Given the description of an element on the screen output the (x, y) to click on. 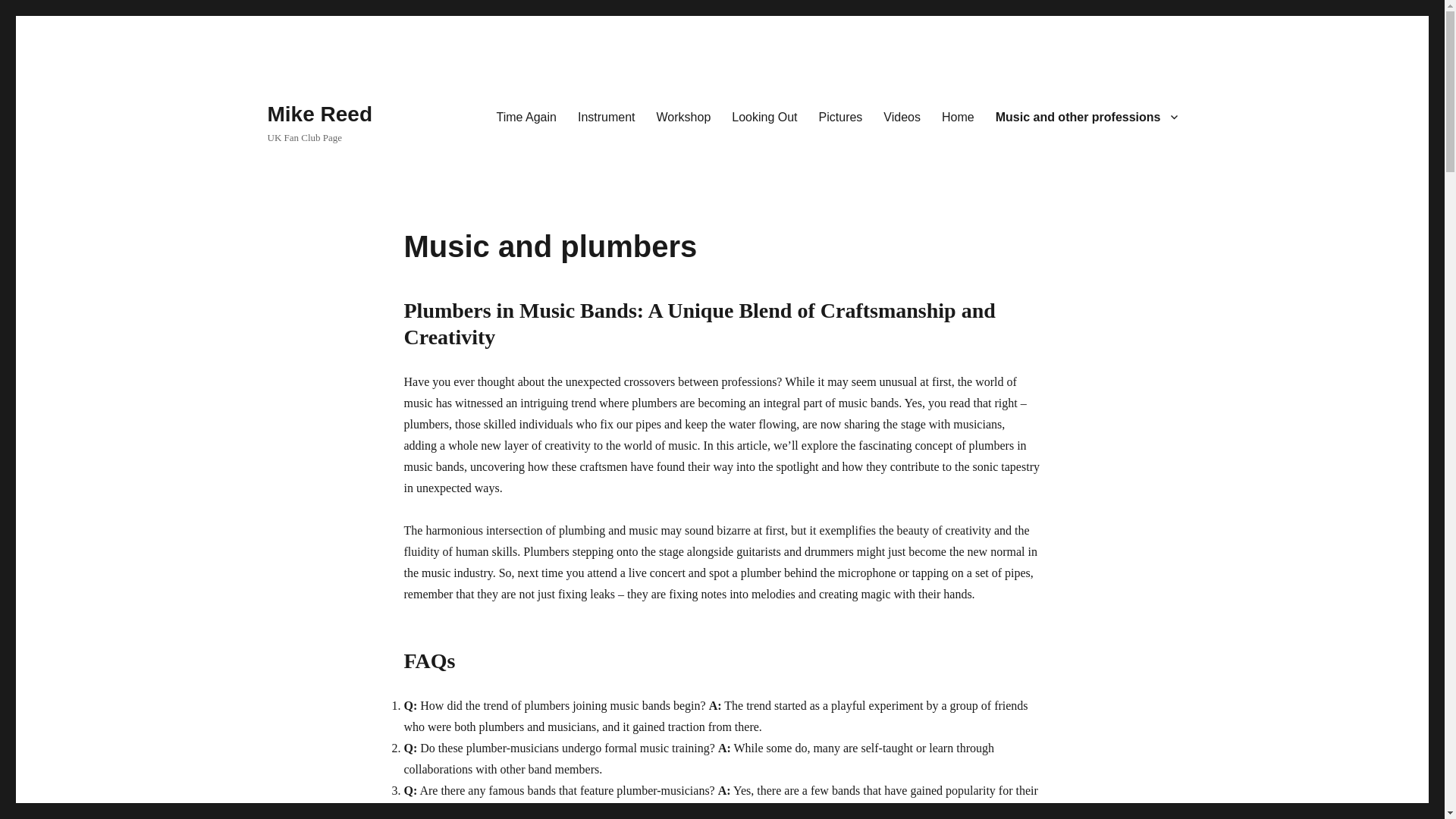
Workshop (684, 116)
Looking Out (764, 116)
Mike Reed (319, 114)
Time Again (525, 116)
Videos (901, 116)
Music and other professions (1086, 116)
Home (958, 116)
Instrument (606, 116)
Pictures (840, 116)
